Given the description of an element on the screen output the (x, y) to click on. 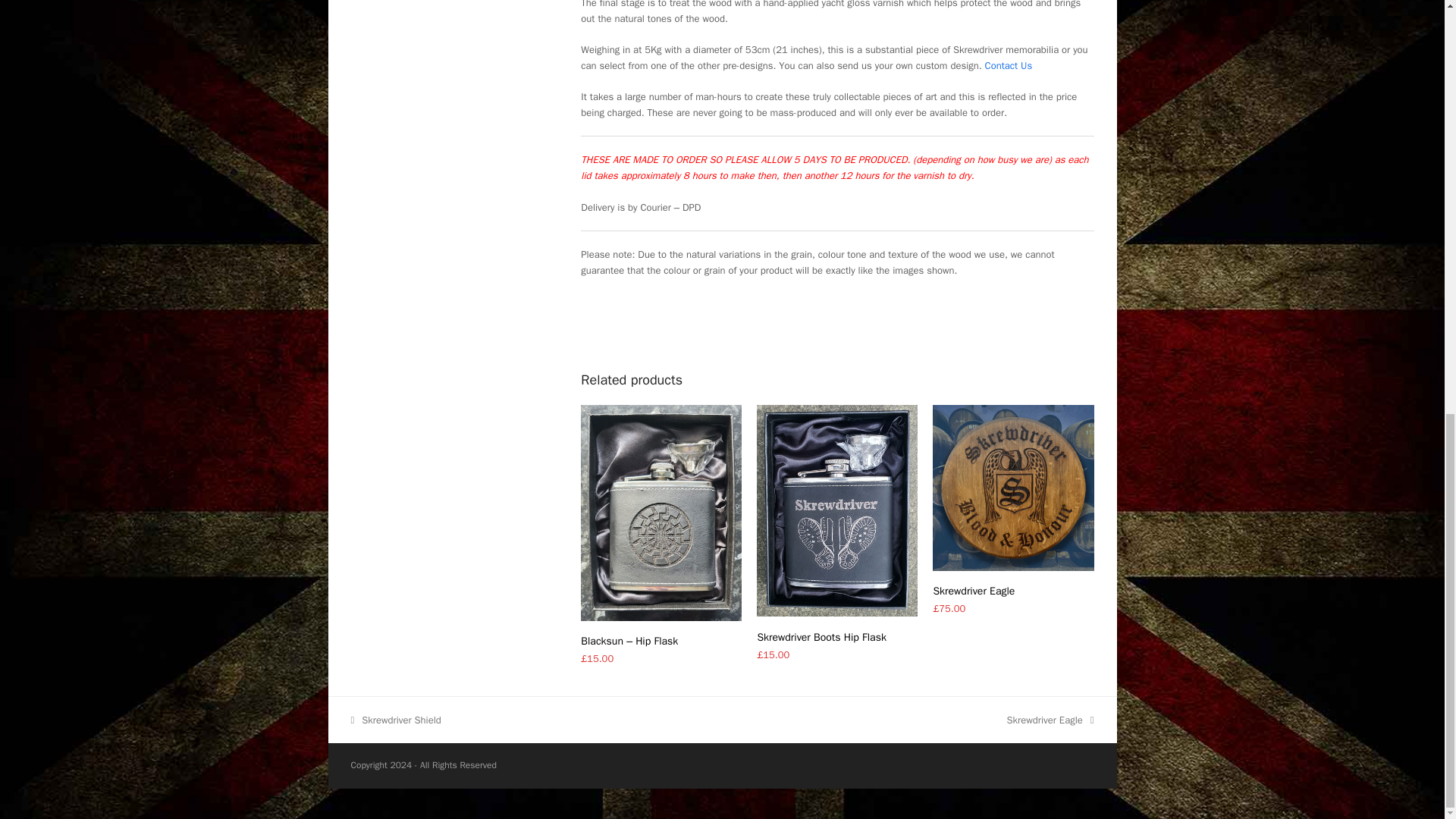
Skrewdriver Eagle (1013, 590)
Contact Us (1008, 65)
Skrewdriver Boots Hip Flask (837, 636)
